Given the description of an element on the screen output the (x, y) to click on. 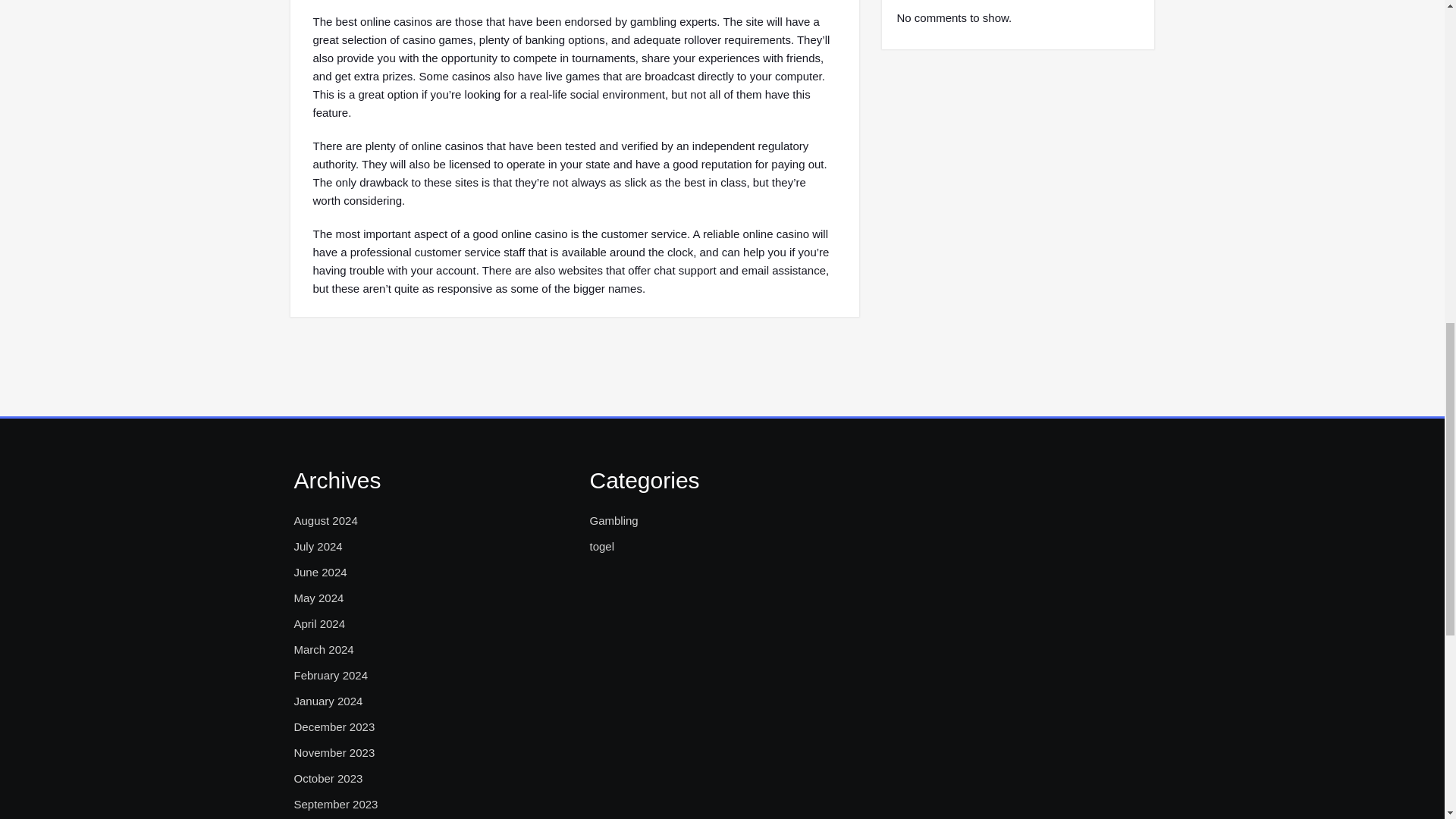
December 2023 (334, 727)
February 2024 (331, 675)
September 2023 (336, 804)
June 2024 (320, 572)
August 2024 (326, 520)
November 2023 (334, 752)
October 2023 (328, 778)
May 2024 (318, 597)
April 2024 (320, 624)
July 2024 (318, 546)
March 2024 (323, 649)
January 2024 (328, 701)
